Given the description of an element on the screen output the (x, y) to click on. 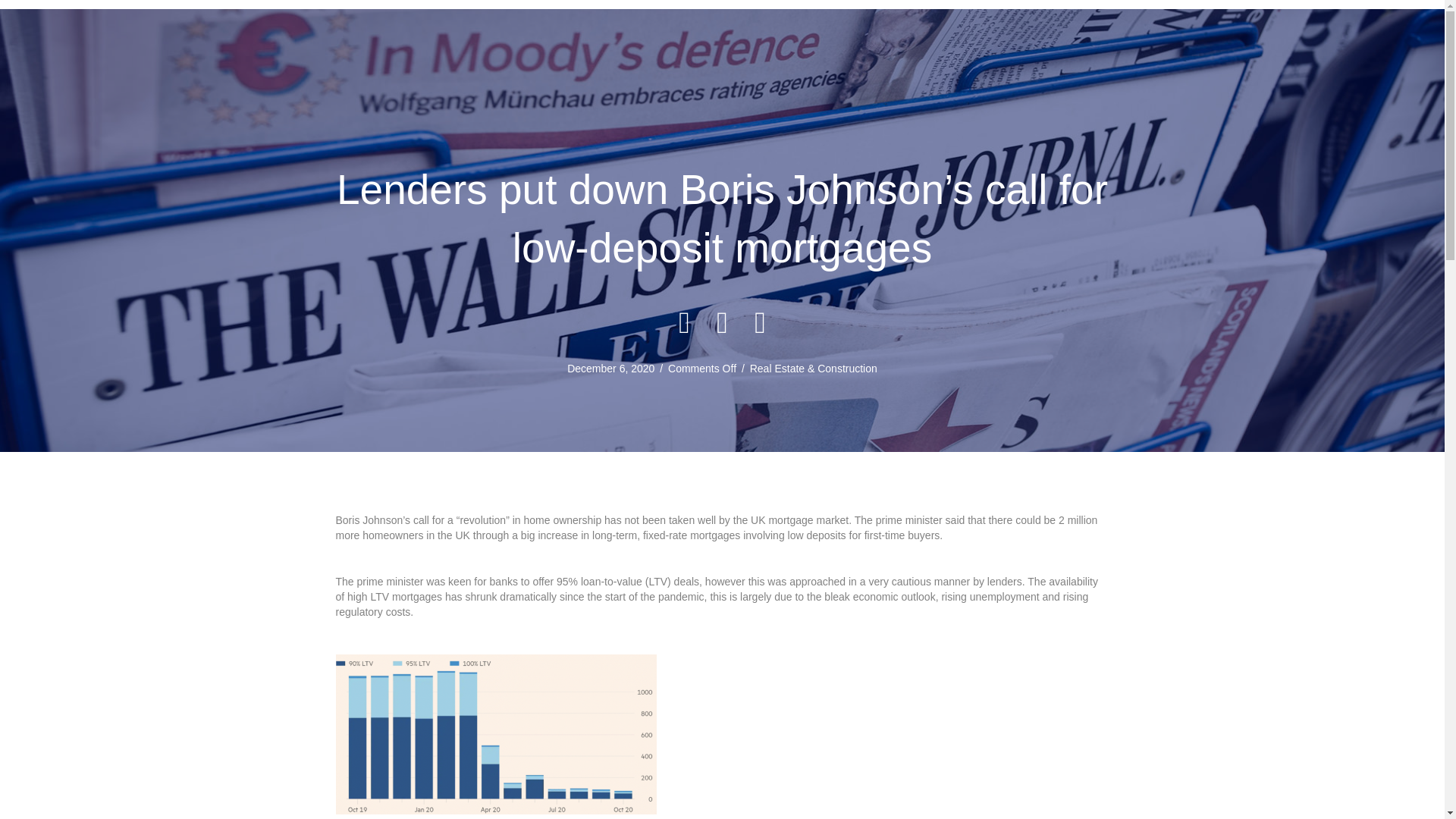
Commitee (727, 71)
News (662, 71)
Careers Centre (953, 71)
Initiatives (864, 71)
Events (797, 71)
DUFS Durham University Finance Society (457, 72)
Contact Us (1047, 71)
